Given the description of an element on the screen output the (x, y) to click on. 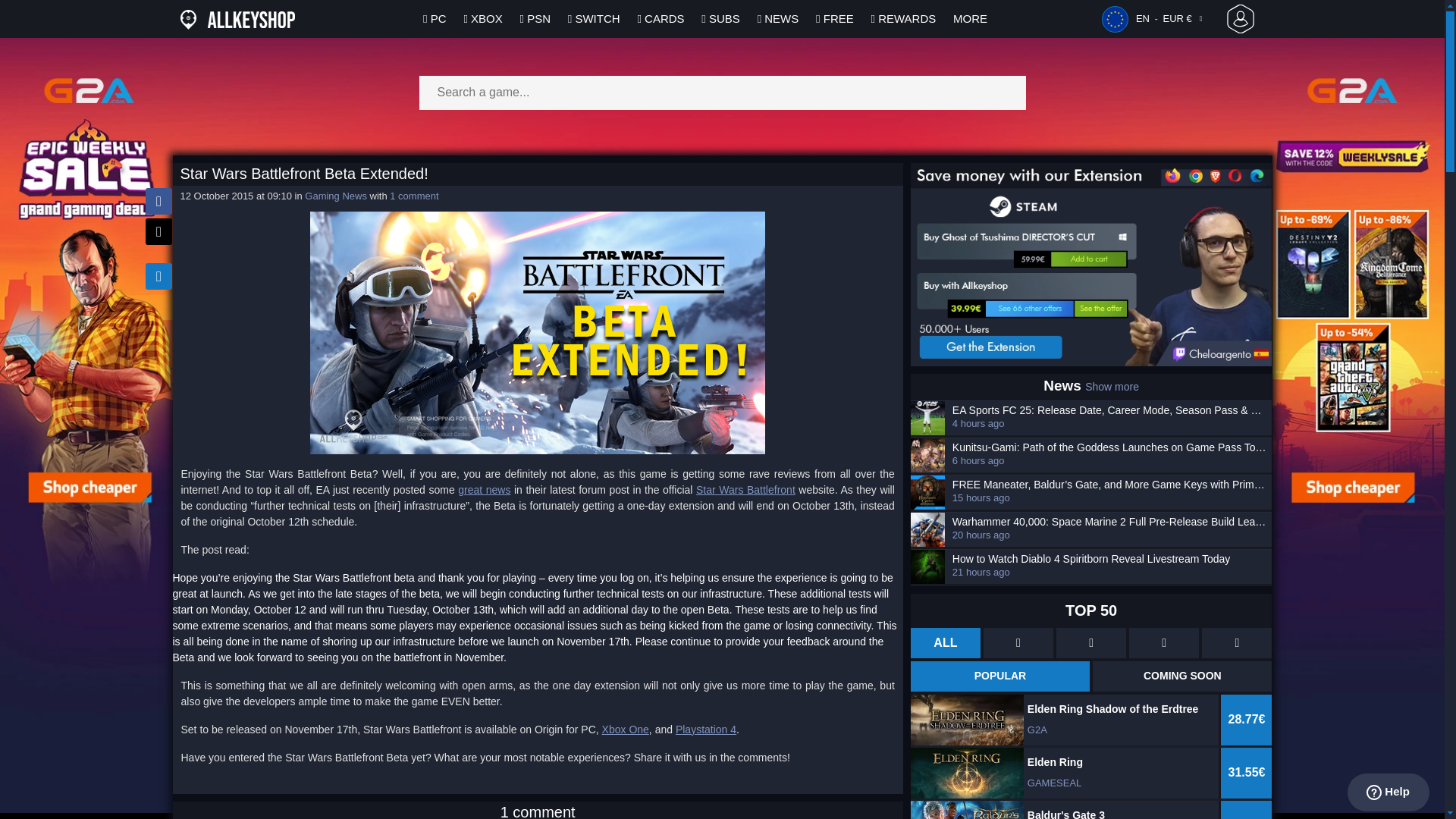
Monday, 12 October 2015 at 09:10:02 UTC (236, 195)
How to Watch Diablo 4 Spiritborn Reveal Livestream Today (1110, 558)
Elden Ring Shadow of the Erdtree digital code best prices (1091, 720)
Show more (1111, 386)
SWITCH (594, 18)
PSN (535, 18)
XBOX (482, 18)
